Given the description of an element on the screen output the (x, y) to click on. 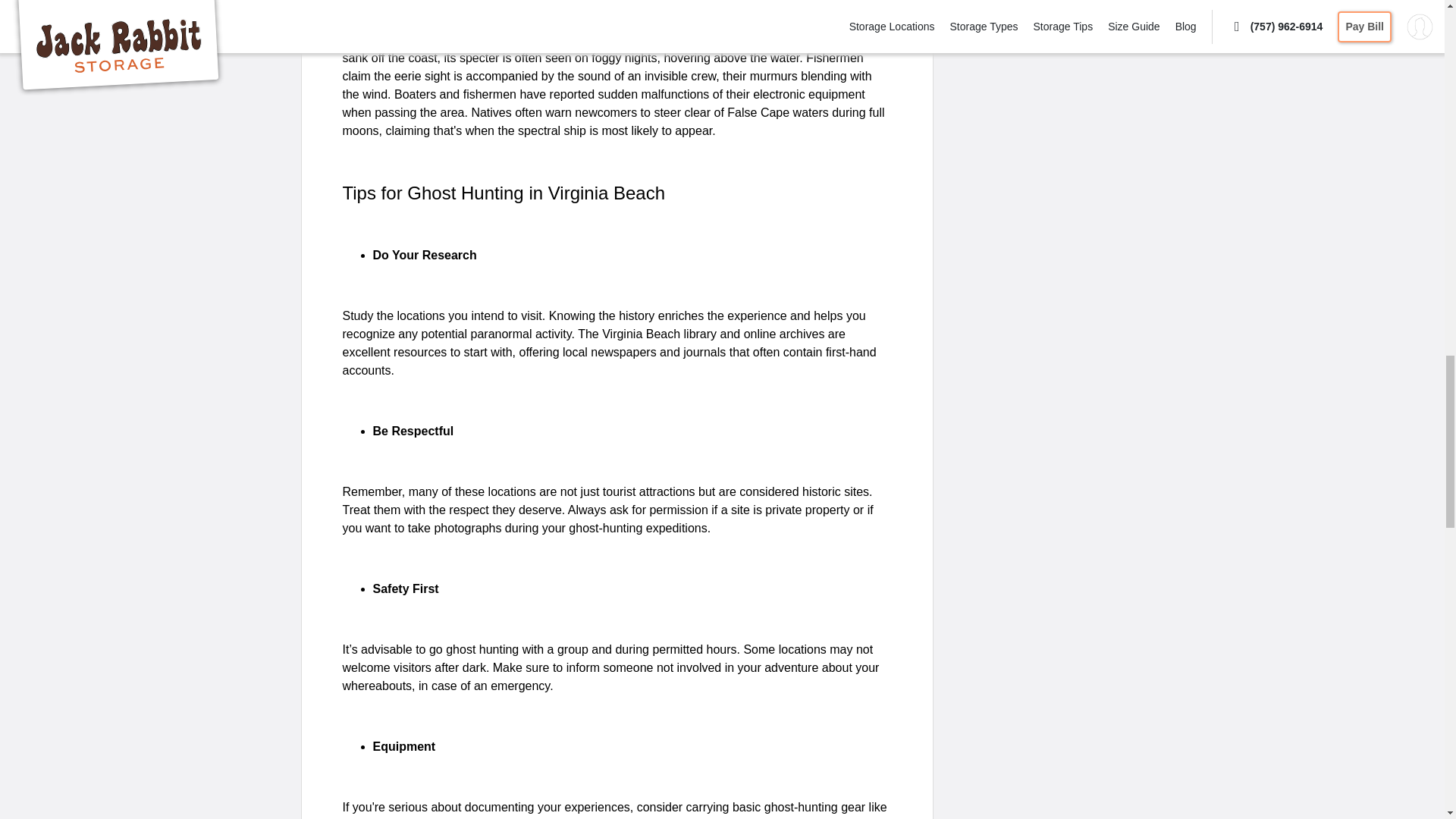
False Cape (627, 39)
